Given the description of an element on the screen output the (x, y) to click on. 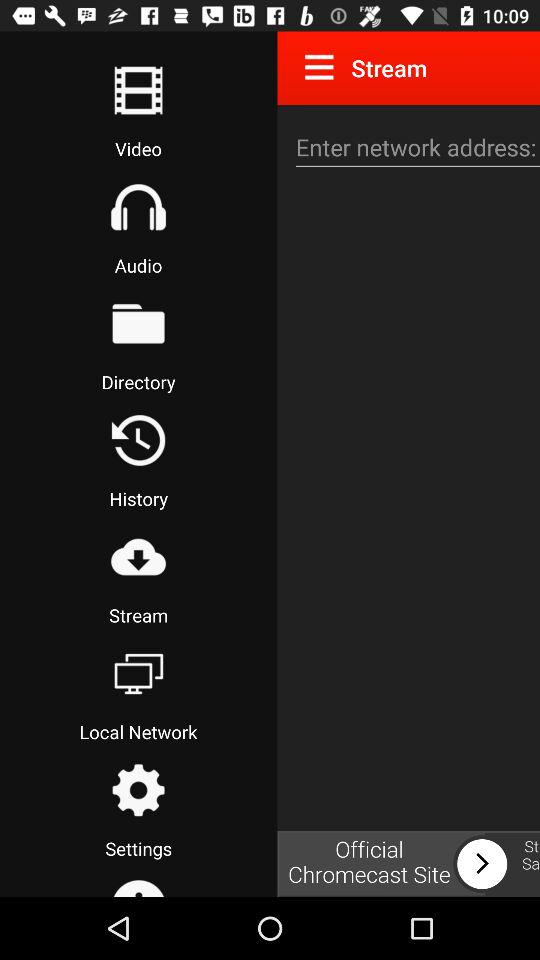
see local network connection (138, 673)
